Given the description of an element on the screen output the (x, y) to click on. 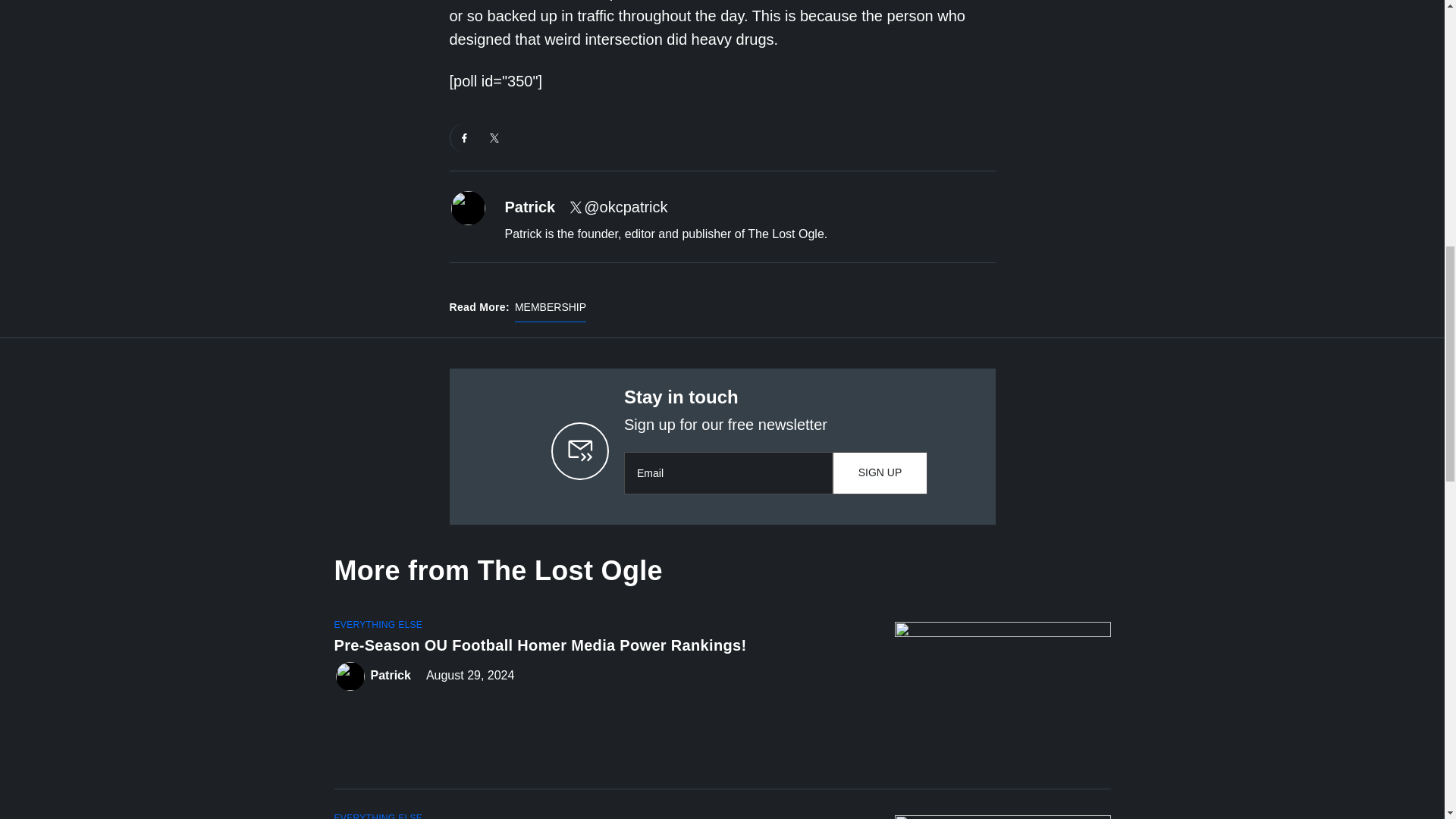
EVERYTHING ELSE (377, 816)
Patrick (530, 207)
MEMBERSHIP (550, 310)
Patrick (389, 675)
Pre-Season OU Football Homer Media Power Rankings! (601, 648)
SIGN UP (879, 473)
EVERYTHING ELSE (377, 624)
Share on Facebook (464, 137)
